Given the description of an element on the screen output the (x, y) to click on. 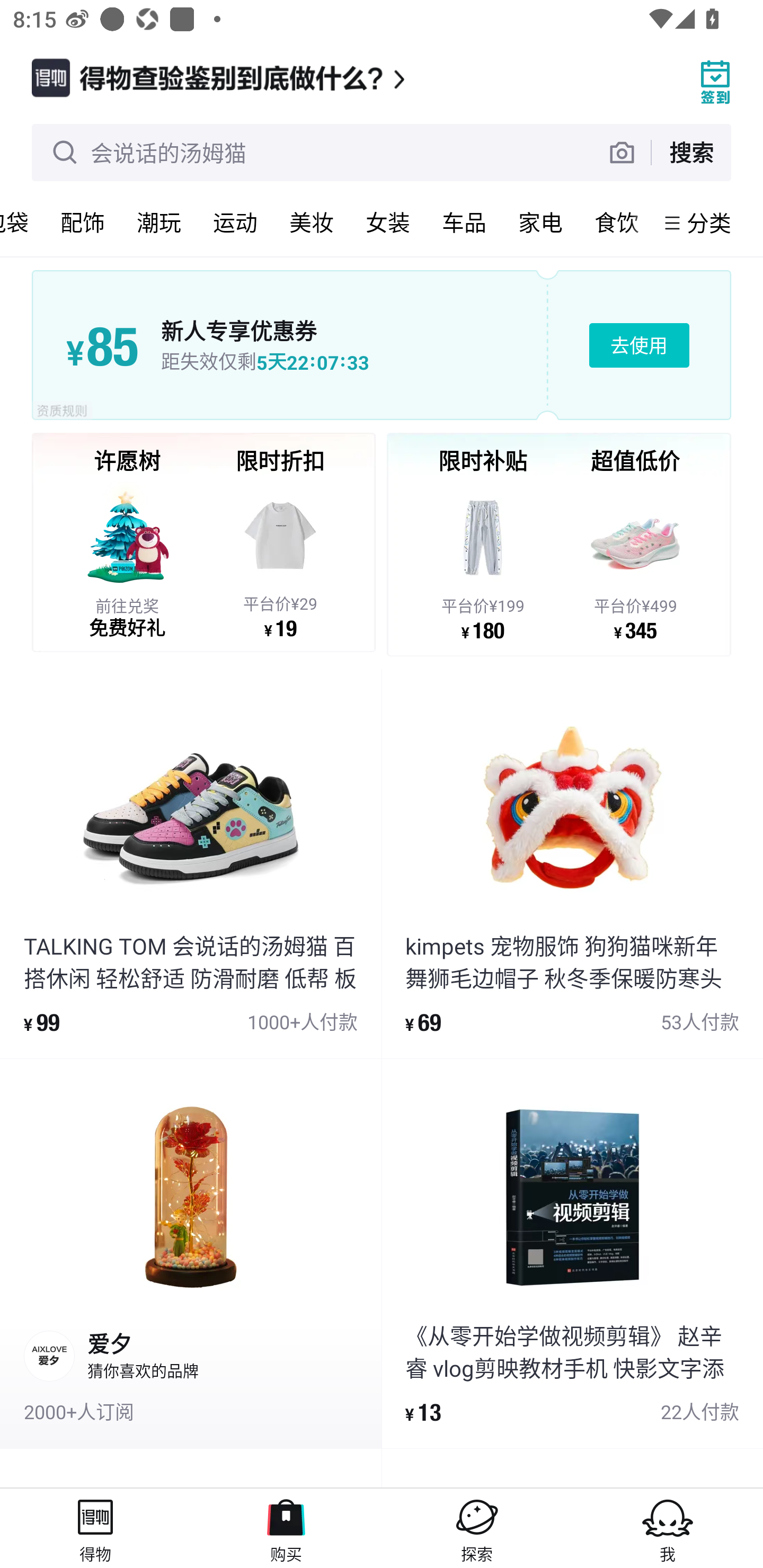
搜索 (690, 152)
配饰 (82, 222)
潮玩 (158, 222)
运动 (234, 222)
美妆 (311, 222)
女装 (387, 222)
车品 (463, 222)
家电 (540, 222)
食饮 (616, 222)
分类 (708, 222)
平台价¥29 ¥ 19 (279, 559)
前往兑奖 免费好礼 (127, 559)
平台价¥199 ¥ 180 (482, 560)
平台价¥499 ¥ 345 (635, 560)
爱夕 猜你喜欢的品牌 2000+人订阅 (190, 1253)
得物 (95, 1528)
购买 (285, 1528)
探索 (476, 1528)
我 (667, 1528)
